Given the description of an element on the screen output the (x, y) to click on. 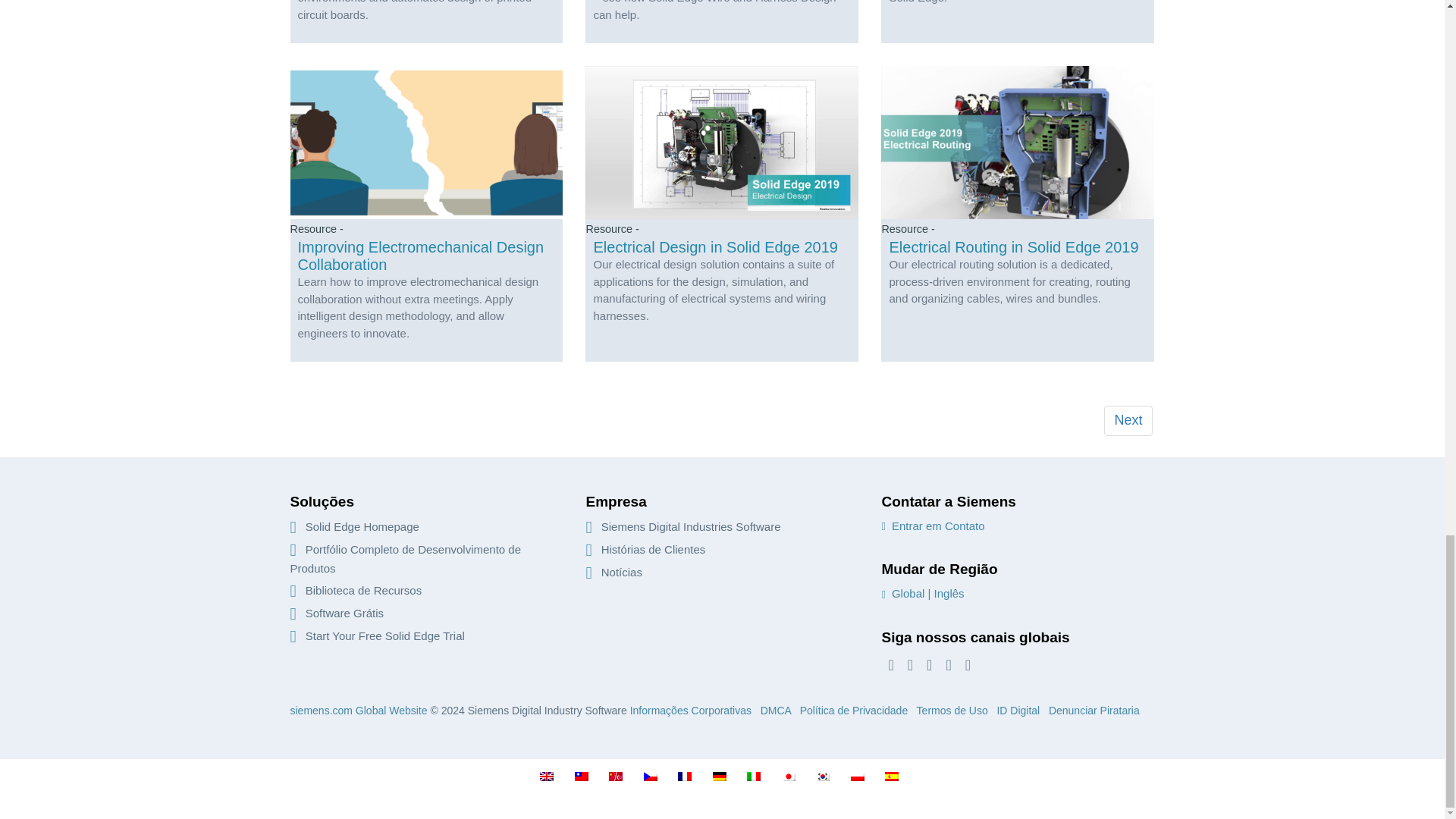
DMCA (775, 710)
Biblioteca de Recursos (355, 590)
Start Your Free Solid Edge Trial (376, 635)
Next (1127, 420)
Entrar em Contato (932, 525)
Electrical Design in Solid Edge 2019 (721, 213)
